Given the description of an element on the screen output the (x, y) to click on. 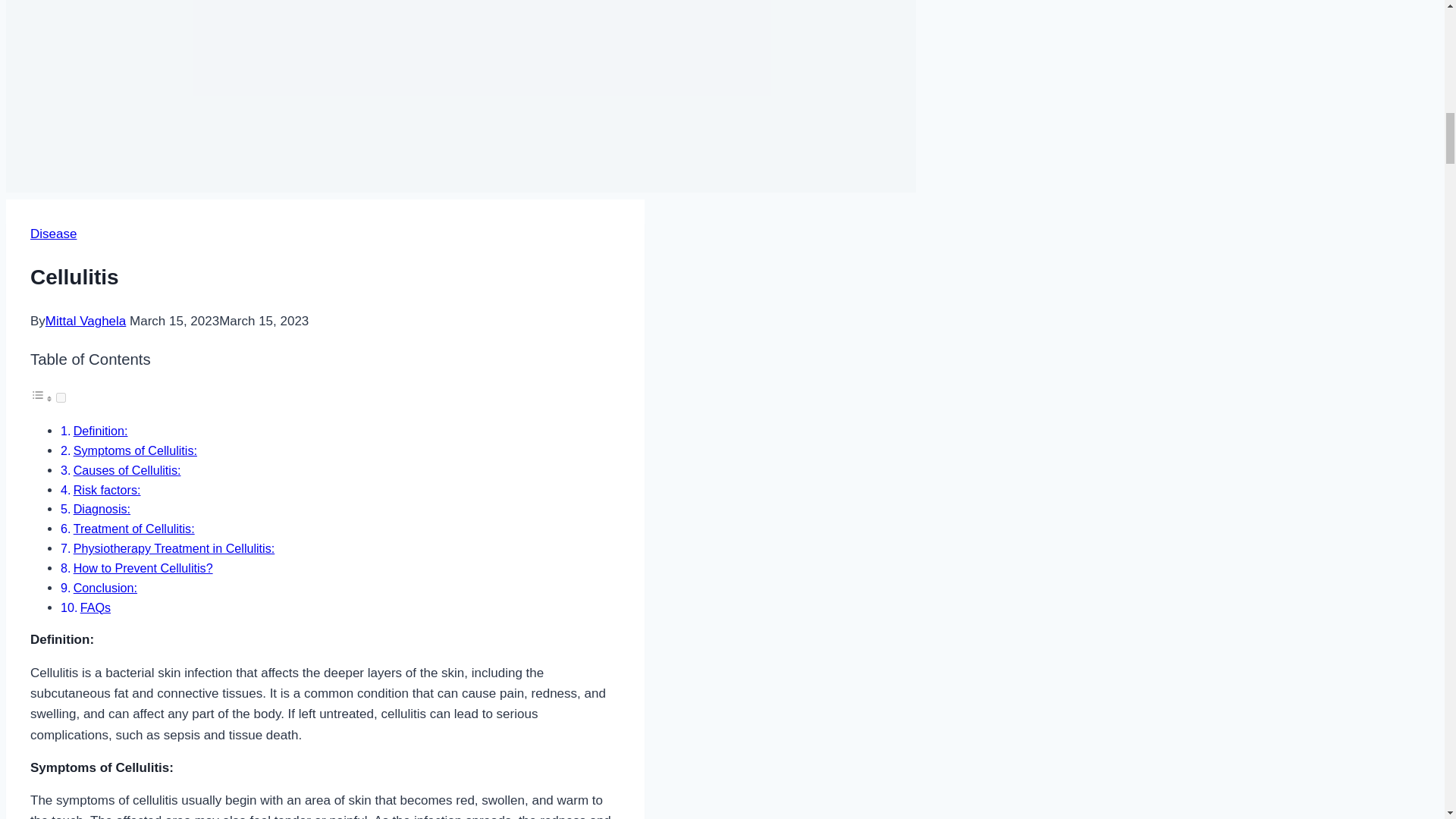
Disease (53, 233)
Symptoms of Cellulitis: (135, 450)
Causes of Cellulitis: (127, 469)
Risk factors: (107, 489)
Mittal Vaghela (85, 320)
Physiotherapy Treatment in Cellulitis: (174, 548)
Definition: (101, 430)
Symptoms of Cellulitis: (135, 450)
How to Prevent Cellulitis? (143, 567)
Treatment of Cellulitis: (134, 528)
